Given the description of an element on the screen output the (x, y) to click on. 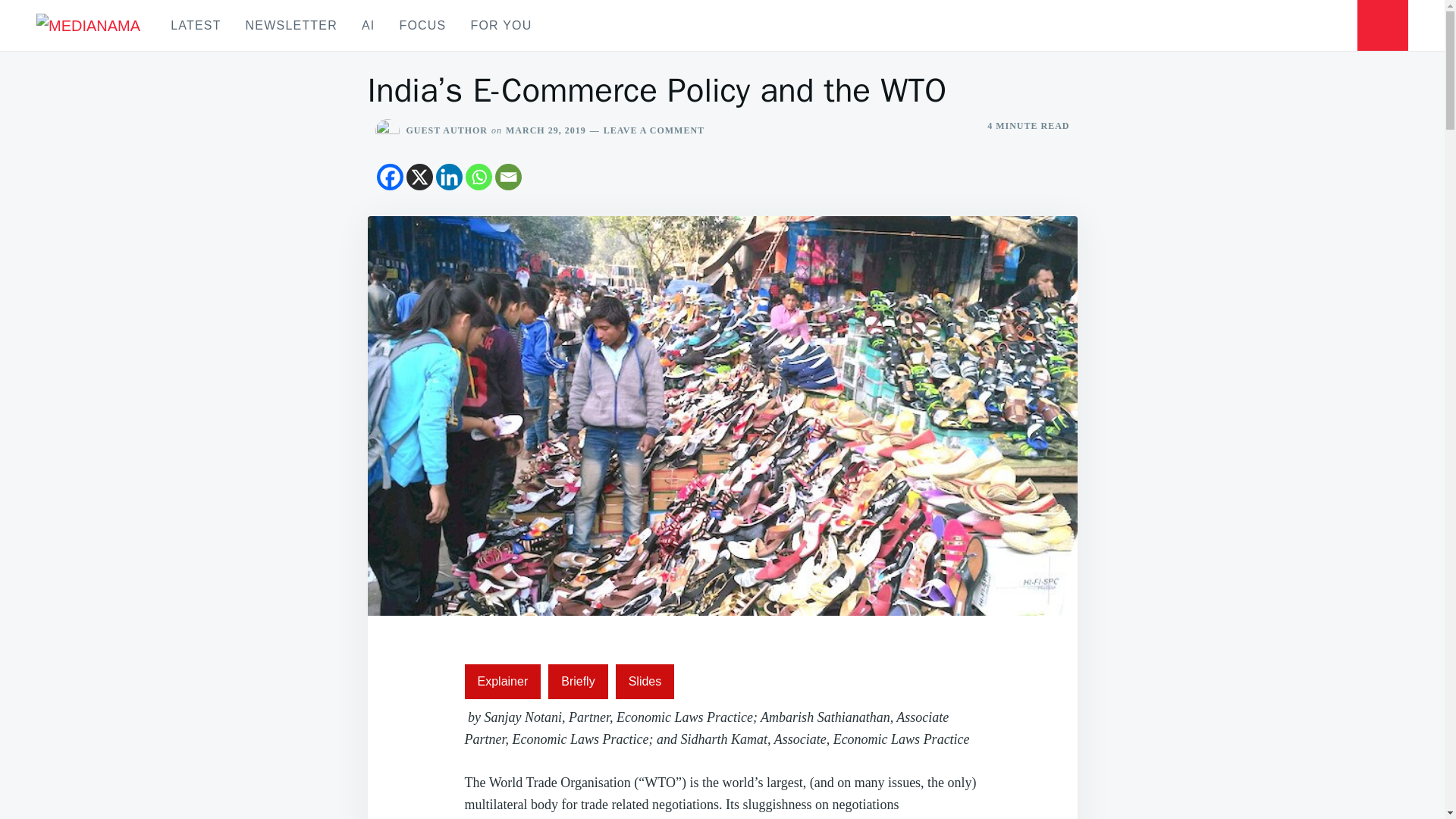
Slides (645, 681)
NEWSLETTER (290, 25)
Explainer (502, 681)
GUEST AUTHOR (446, 130)
FOCUS (422, 25)
LATEST (195, 25)
Briefly (577, 681)
MARCH 29, 2019 (545, 130)
Email (508, 176)
X (419, 176)
